Given the description of an element on the screen output the (x, y) to click on. 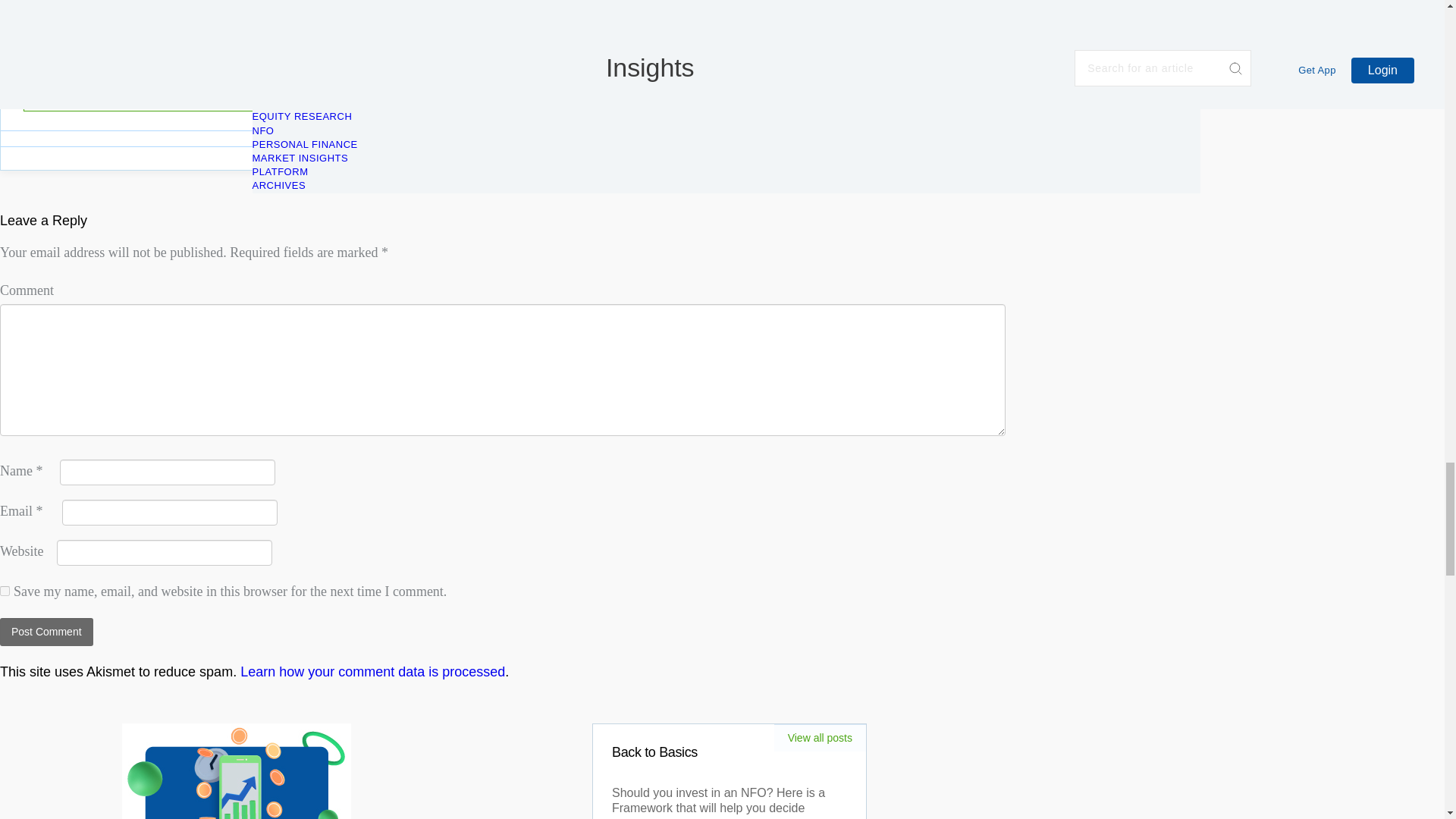
Post Comment (46, 632)
yes (5, 591)
